Given the description of an element on the screen output the (x, y) to click on. 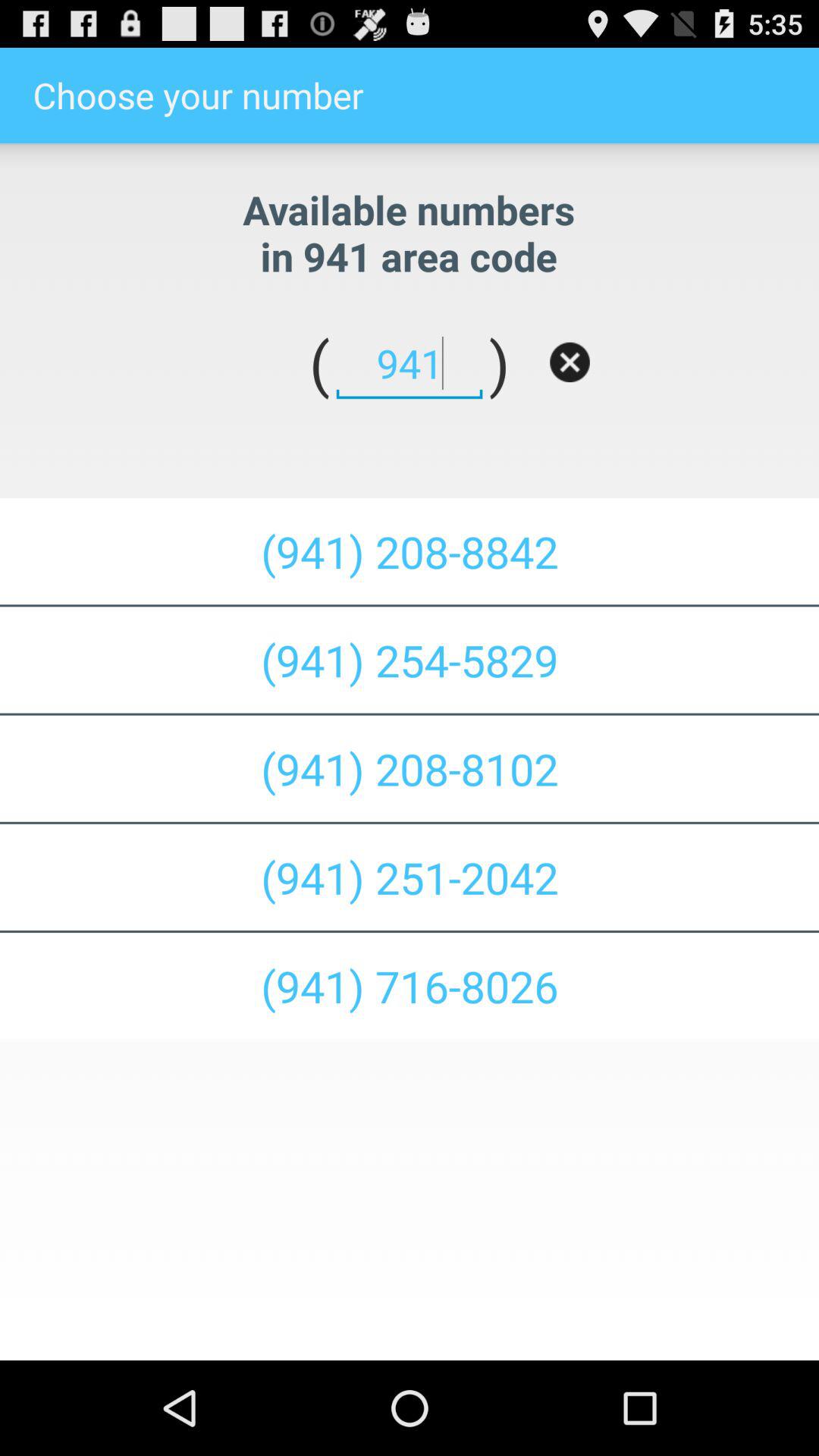
clear box (569, 362)
